Given the description of an element on the screen output the (x, y) to click on. 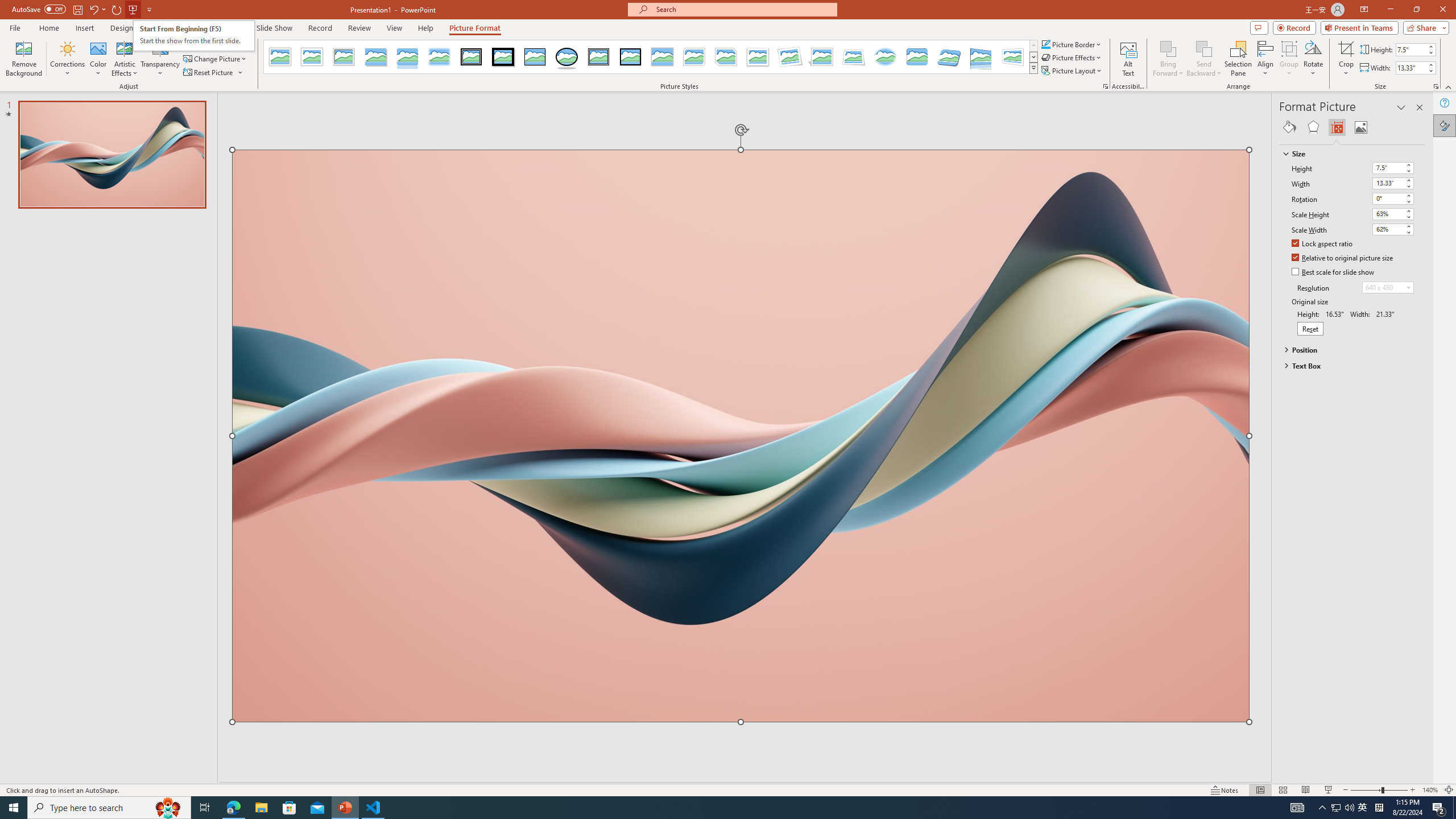
Redo (117, 9)
Rotation (1393, 198)
Send Backward (1204, 48)
Double Frame, Black (471, 56)
Class: NetUIImage (1034, 68)
Transitions (167, 28)
Picture... (1104, 85)
Shape Height (1410, 49)
Close pane (1419, 107)
Snip Diagonal Corner, White (726, 56)
Crop (1345, 58)
Best scale for slide show (1333, 272)
Reset Picture (214, 72)
Reset Picture (208, 72)
